Given the description of an element on the screen output the (x, y) to click on. 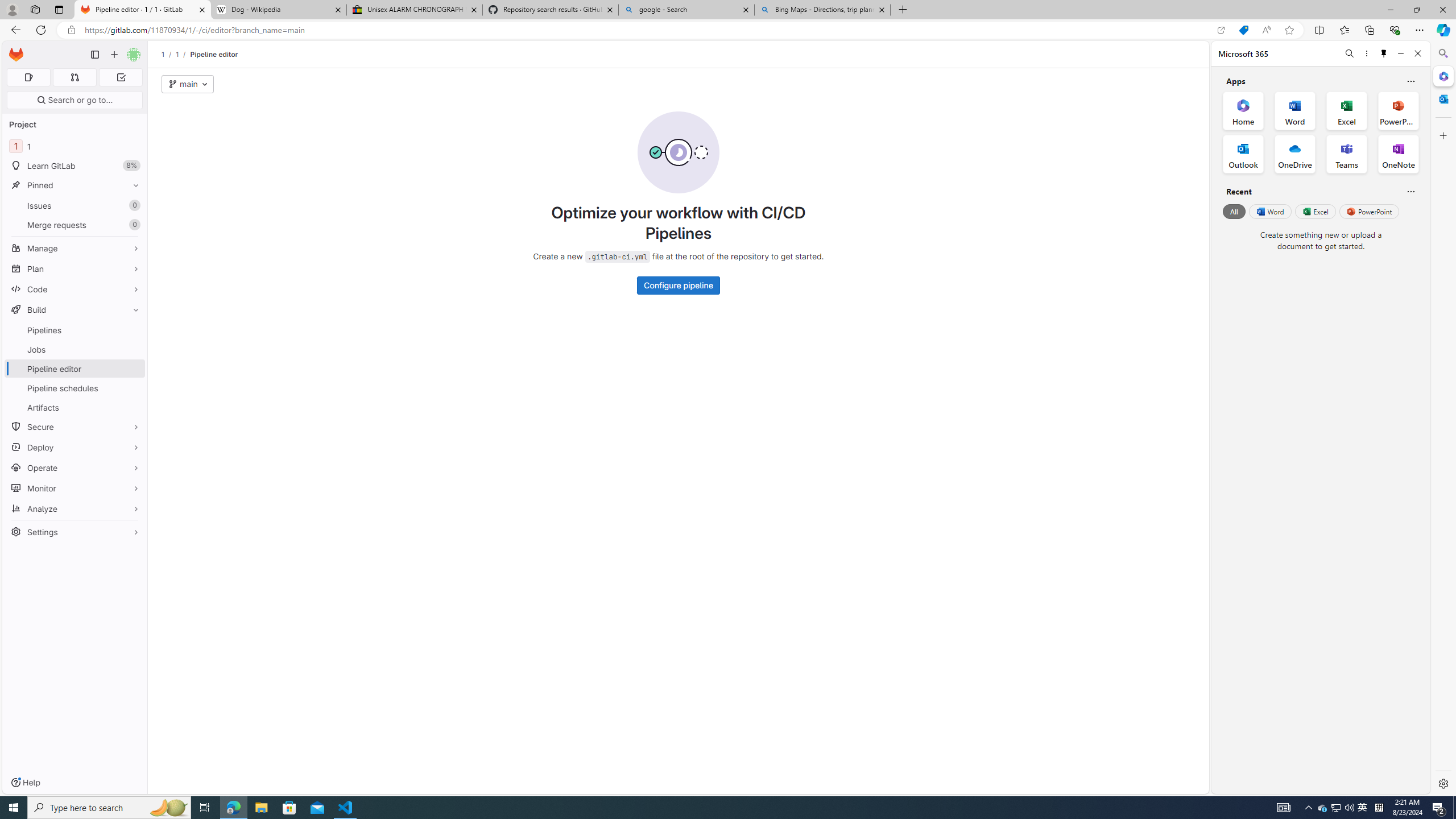
Is this helpful? (1410, 191)
Pin Pipelines (132, 329)
Artifacts (74, 407)
main (187, 84)
Deploy (74, 447)
Merge requests0 (74, 224)
Analyze (74, 508)
Build (74, 309)
Issues0 (74, 205)
Pipeline schedules (74, 387)
